Given the description of an element on the screen output the (x, y) to click on. 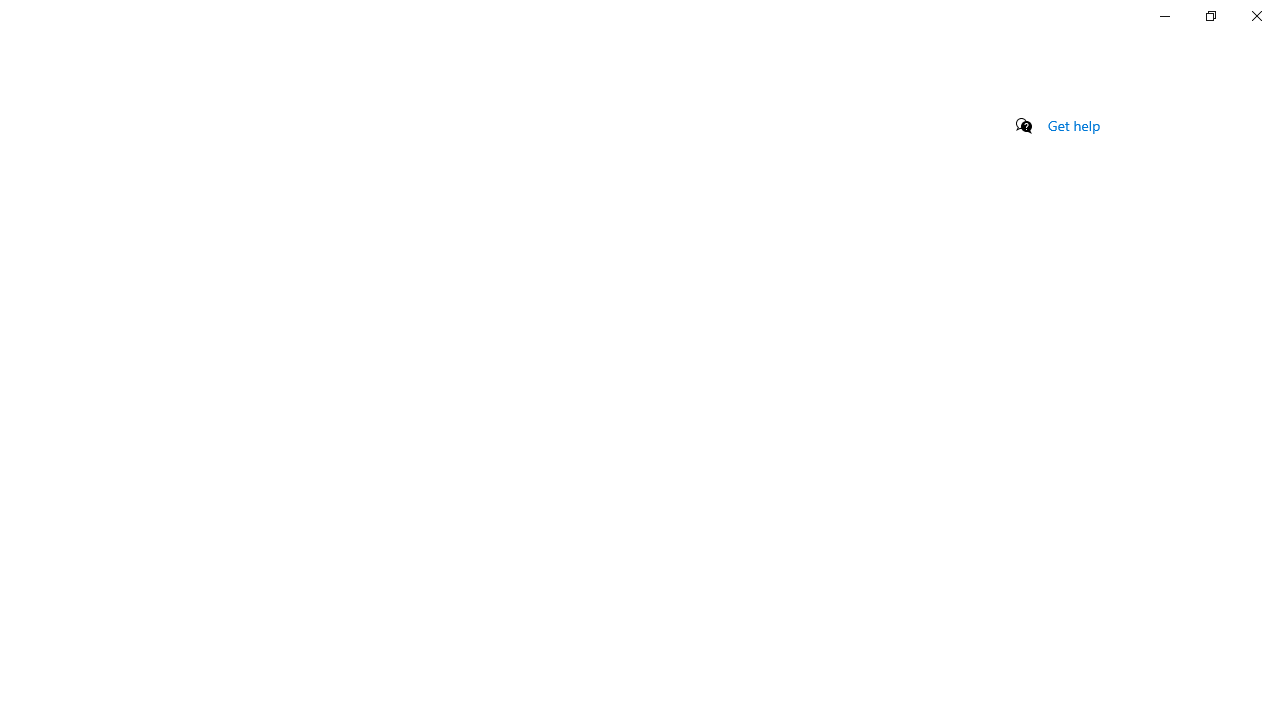
Restore Settings (1210, 15)
Close Settings (1256, 15)
Minimize Settings (1164, 15)
Get help (1074, 125)
